Given the description of an element on the screen output the (x, y) to click on. 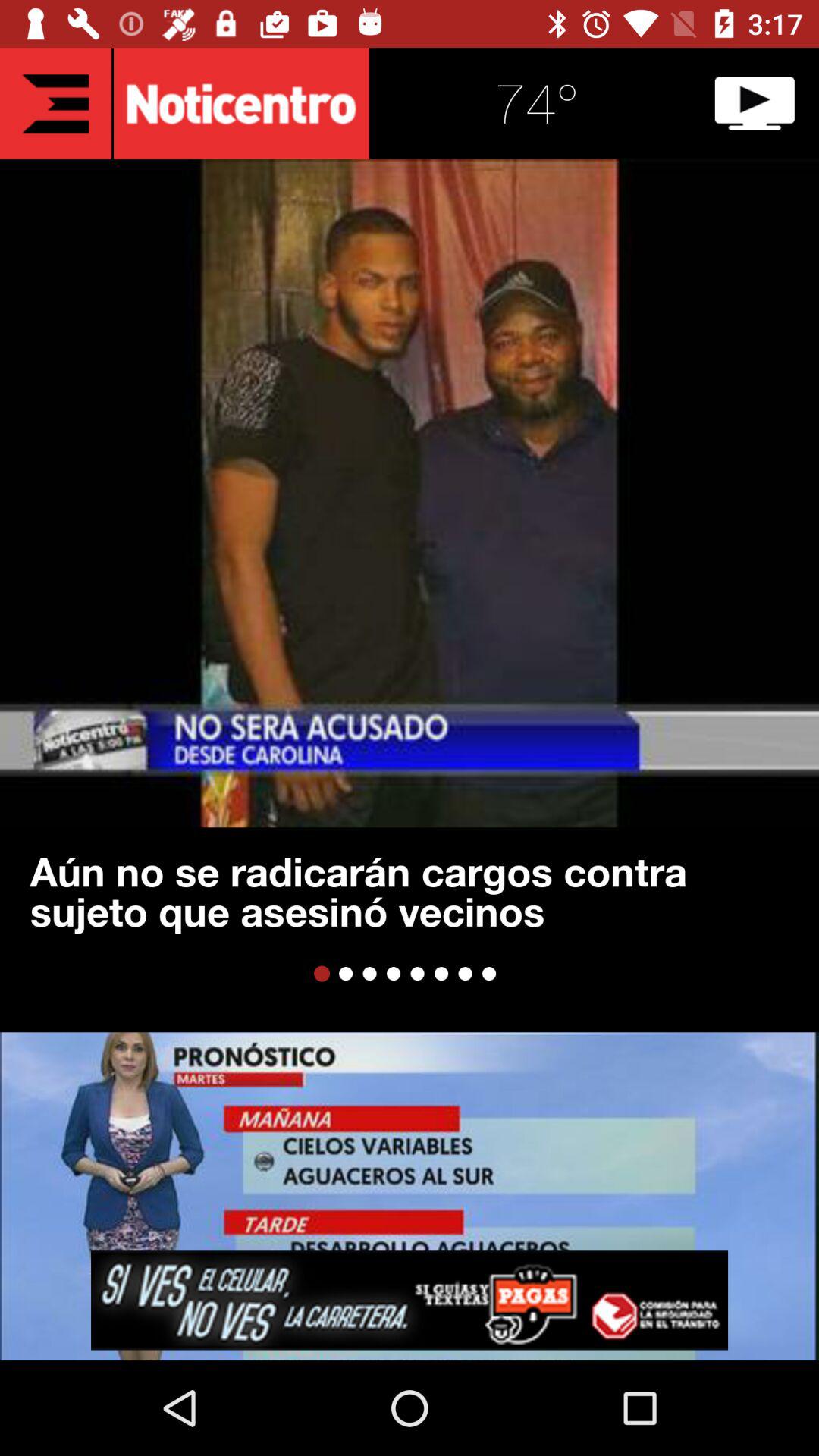
next program (754, 103)
